Given the description of an element on the screen output the (x, y) to click on. 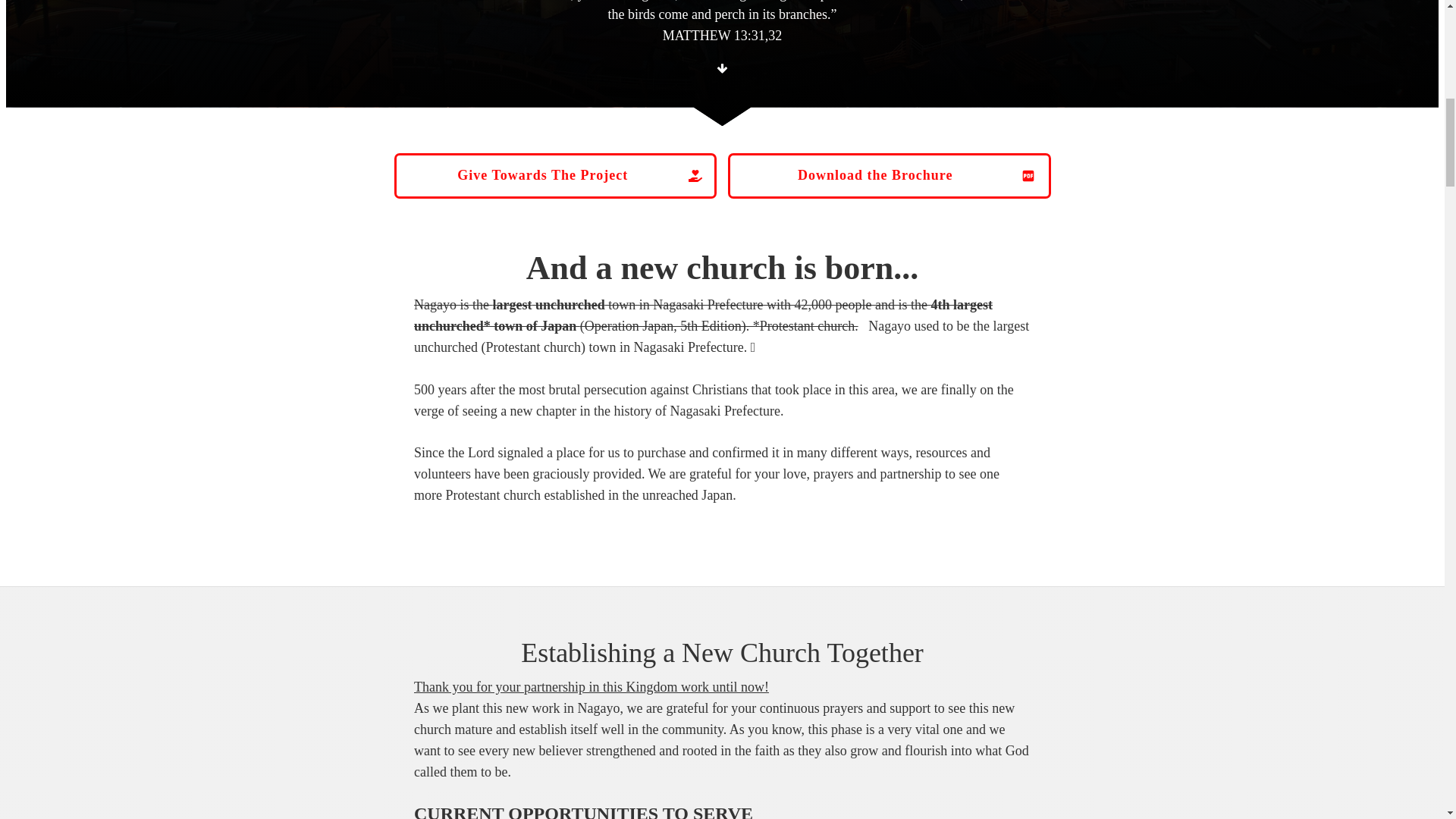
Give Towards The Project (555, 176)
Give Towards The Project (555, 176)
Download the Brochure (889, 176)
